Given the description of an element on the screen output the (x, y) to click on. 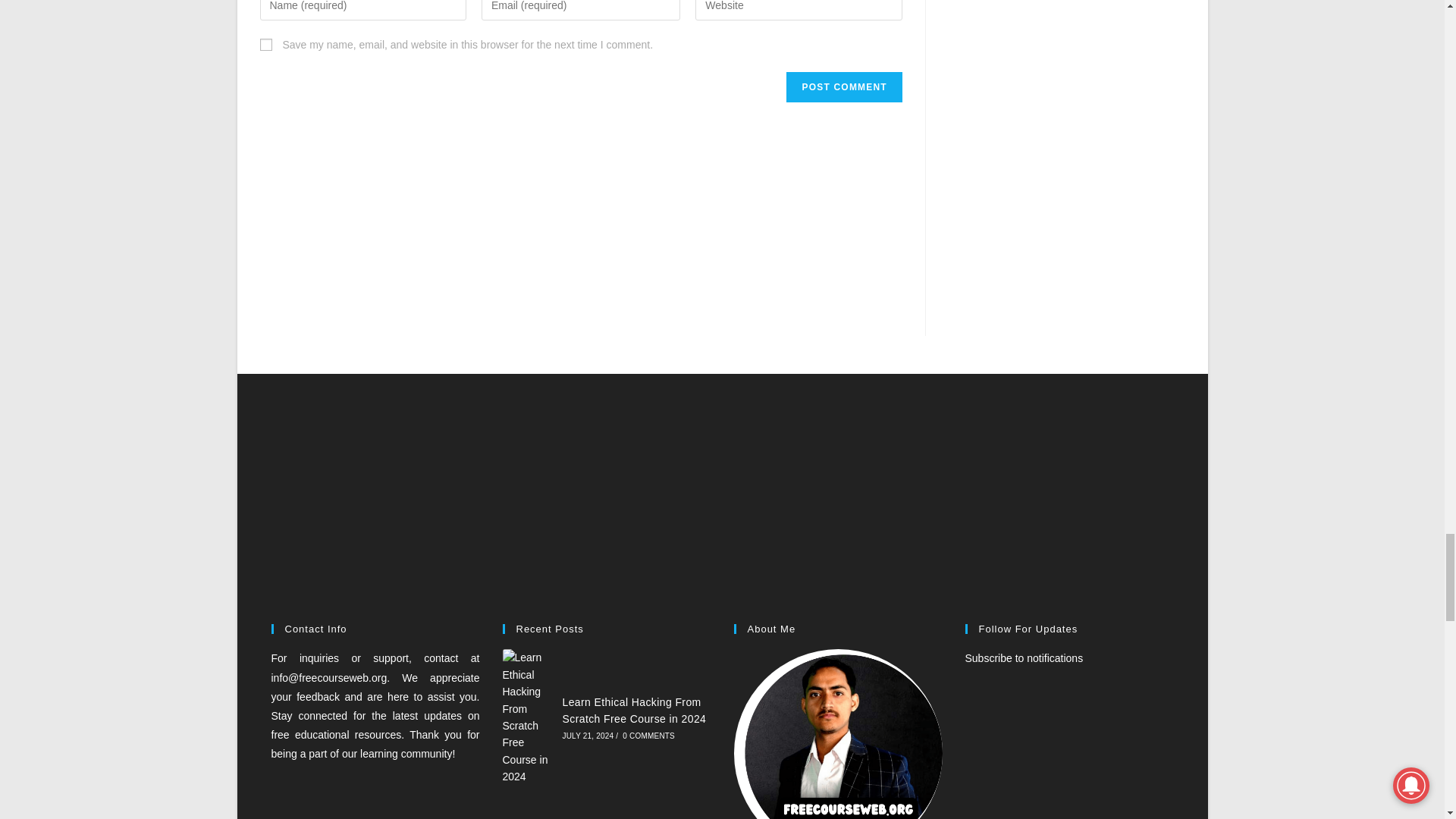
yes (264, 44)
Post Comment (843, 87)
